Given the description of an element on the screen output the (x, y) to click on. 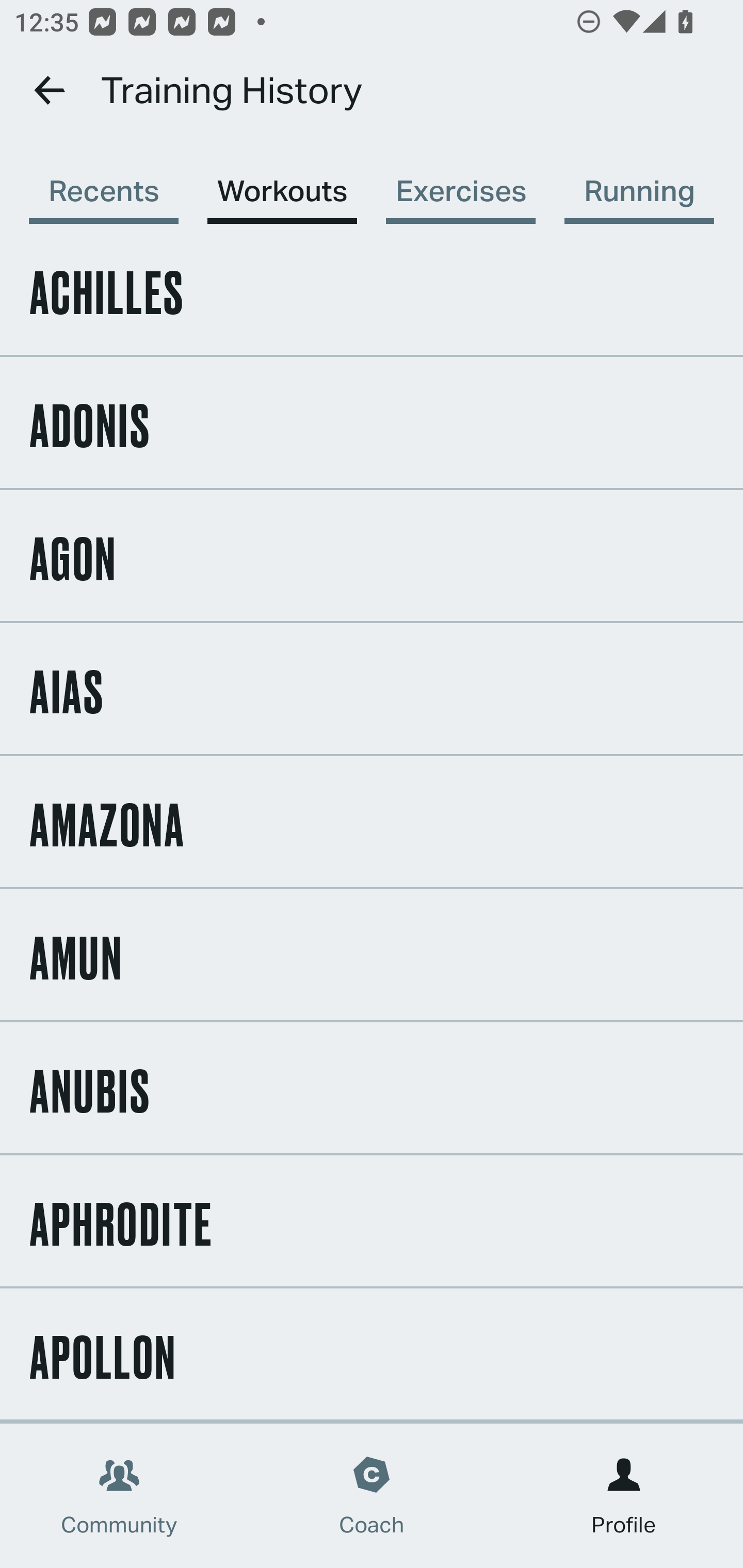
Go back (50, 90)
Recents (103, 180)
Workouts (282, 180)
Exercises (460, 180)
Running (639, 180)
ACHILLES (371, 289)
ADONIS (371, 422)
AGON (371, 554)
AIAS (371, 688)
AMAZONA (371, 821)
AMUN (371, 954)
ANUBIS (371, 1088)
APHRODITE (371, 1220)
APOLLON (371, 1353)
Community (119, 1495)
Coach (371, 1495)
